Given the description of an element on the screen output the (x, y) to click on. 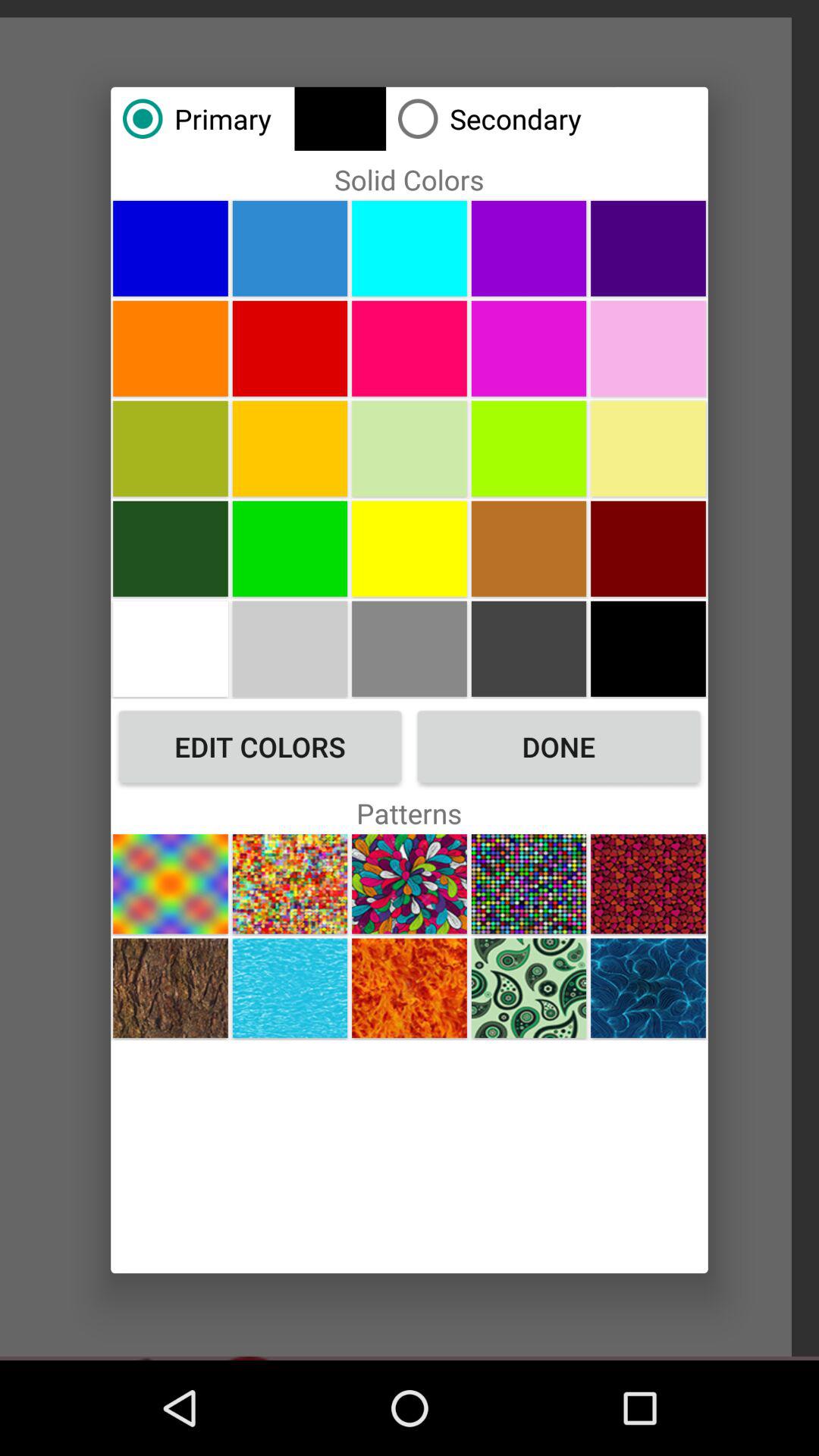
select color green (409, 448)
